Given the description of an element on the screen output the (x, y) to click on. 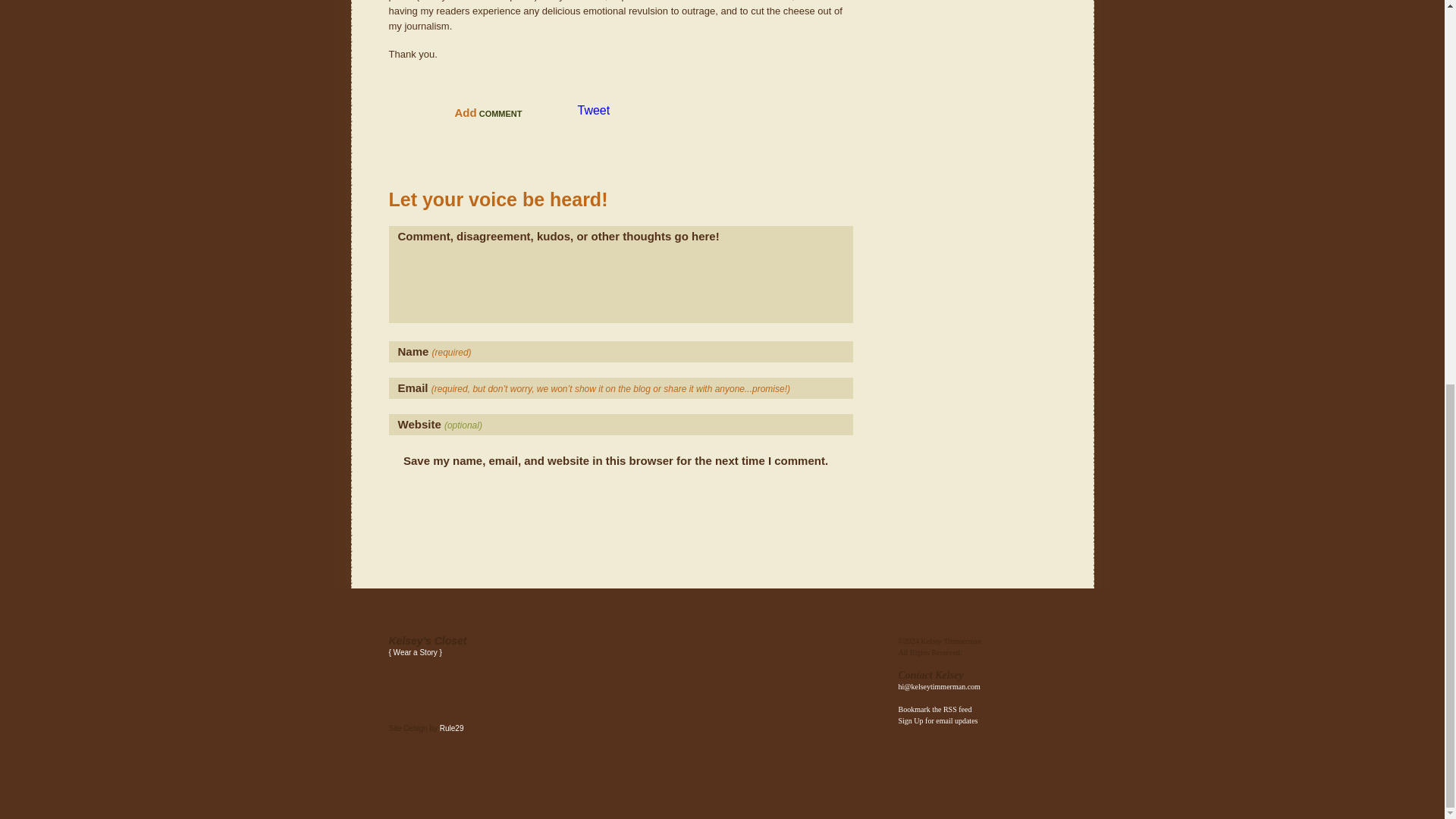
Add COMMENT (487, 112)
Tweet (594, 110)
Post Comment (453, 496)
Post Comment (453, 496)
Where Am I Wearing? trailer (440, 690)
